Given the description of an element on the screen output the (x, y) to click on. 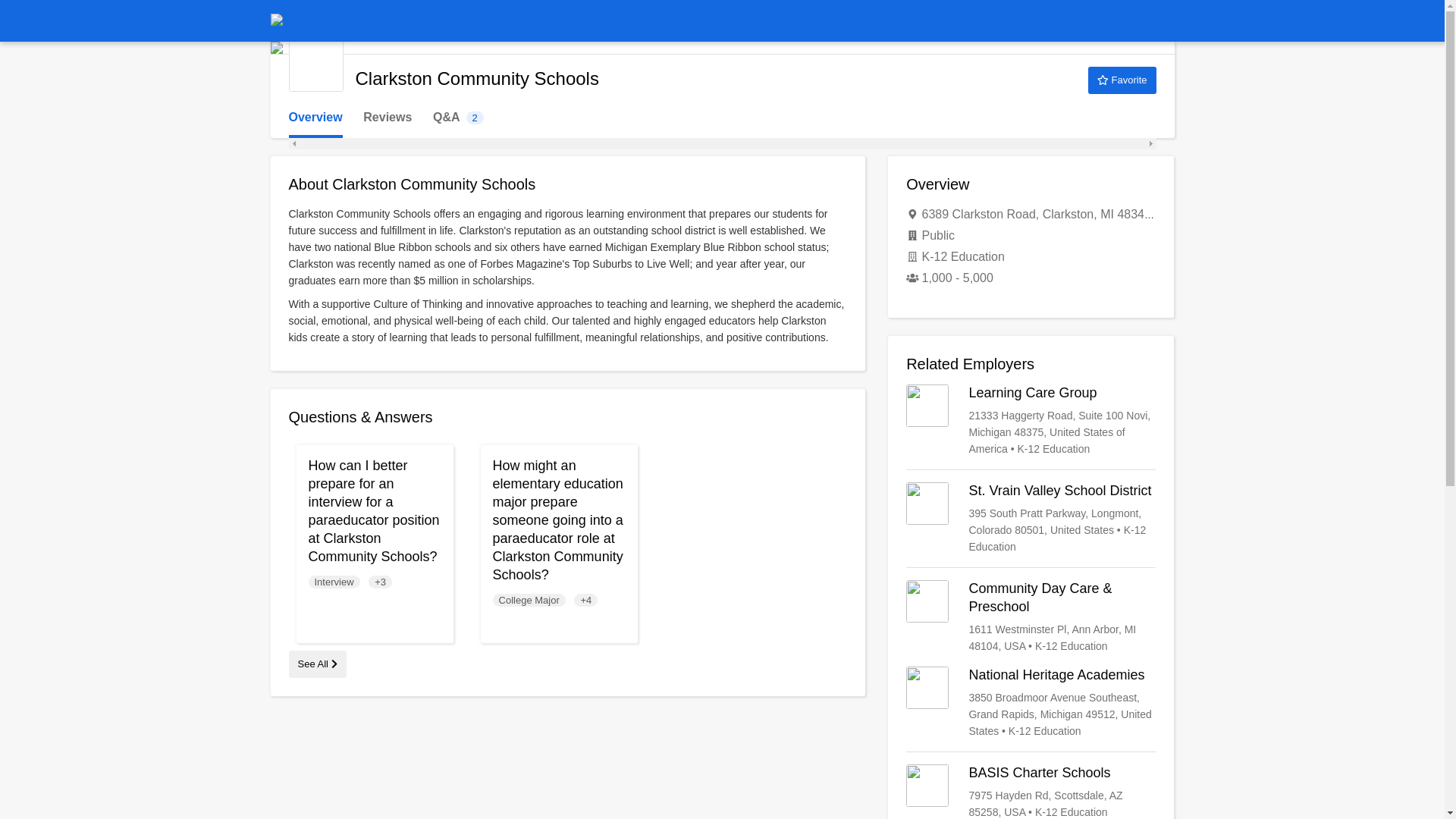
See All (317, 663)
St. Vrain Valley School District (1030, 518)
Overview (315, 117)
Interview (333, 581)
National Heritage Academies (1030, 702)
Learning Care Group (1030, 420)
Favorite (1121, 80)
Clarkston Community Schools (315, 63)
BASIS Charter Schools (1030, 791)
Reviews (387, 117)
